Given the description of an element on the screen output the (x, y) to click on. 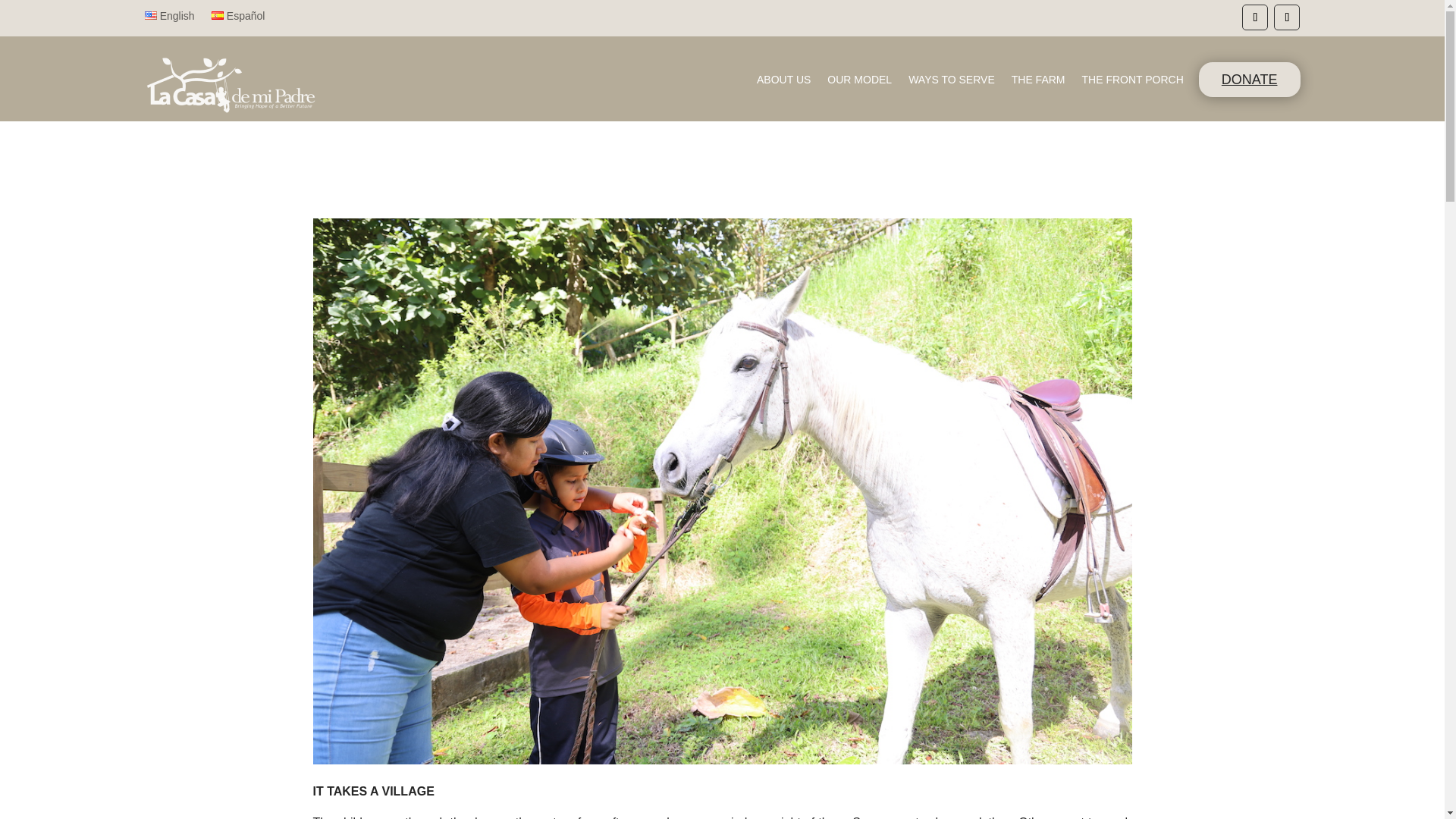
Follow on Facebook (1254, 17)
English (168, 18)
THE FARM (1038, 82)
OUR MODEL (859, 82)
Follow on Instagram (1287, 17)
THE FRONT PORCH (1132, 82)
ABOUT US (783, 82)
WAYS TO SERVE (951, 82)
DONATE (1249, 79)
MFH logo2 (229, 85)
